Given the description of an element on the screen output the (x, y) to click on. 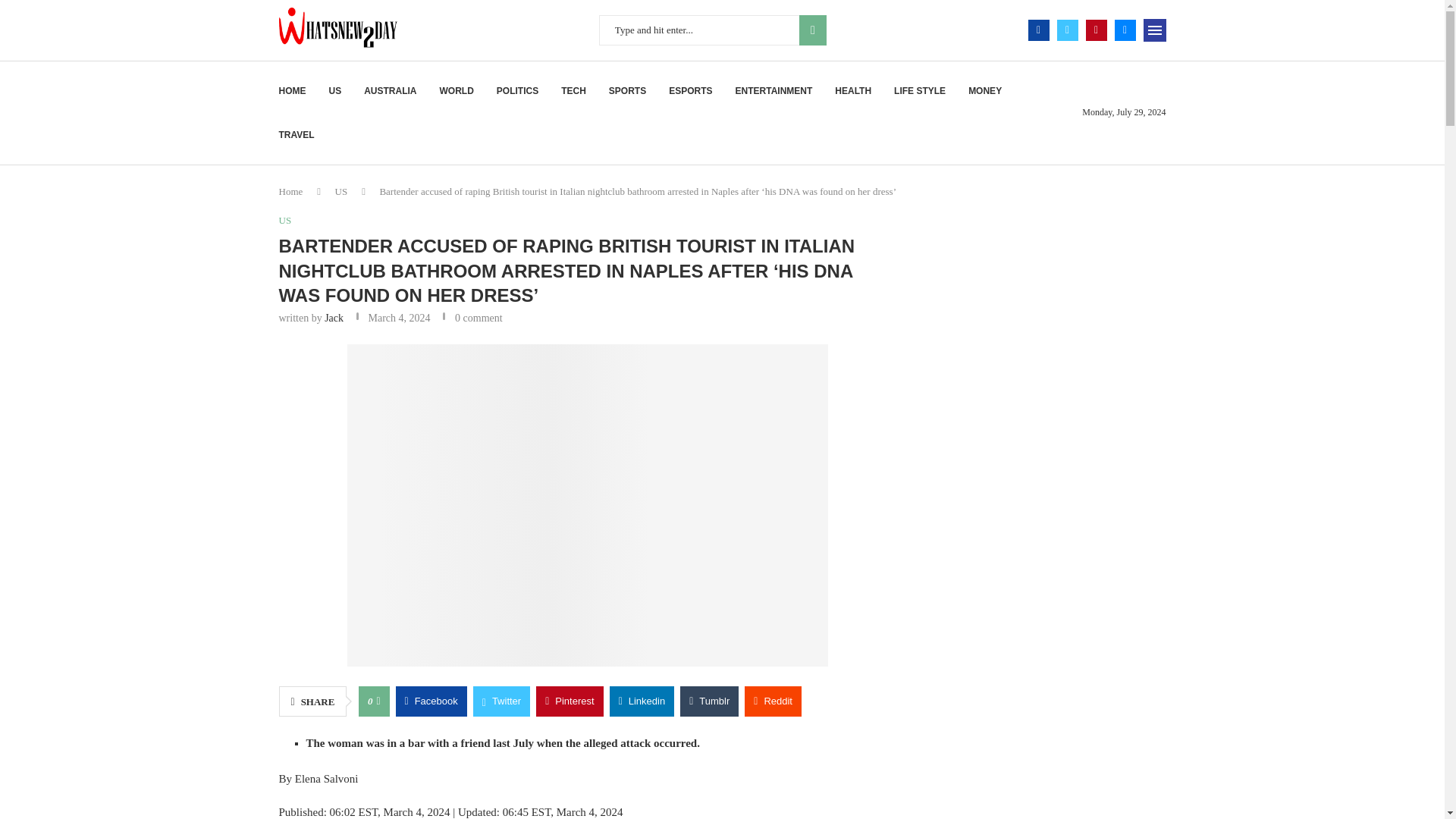
LIFE STYLE (918, 90)
ENTERTAINMENT (773, 90)
POLITICS (517, 90)
ESPORTS (689, 90)
AUSTRALIA (390, 90)
SEARCH (813, 30)
